Given the description of an element on the screen output the (x, y) to click on. 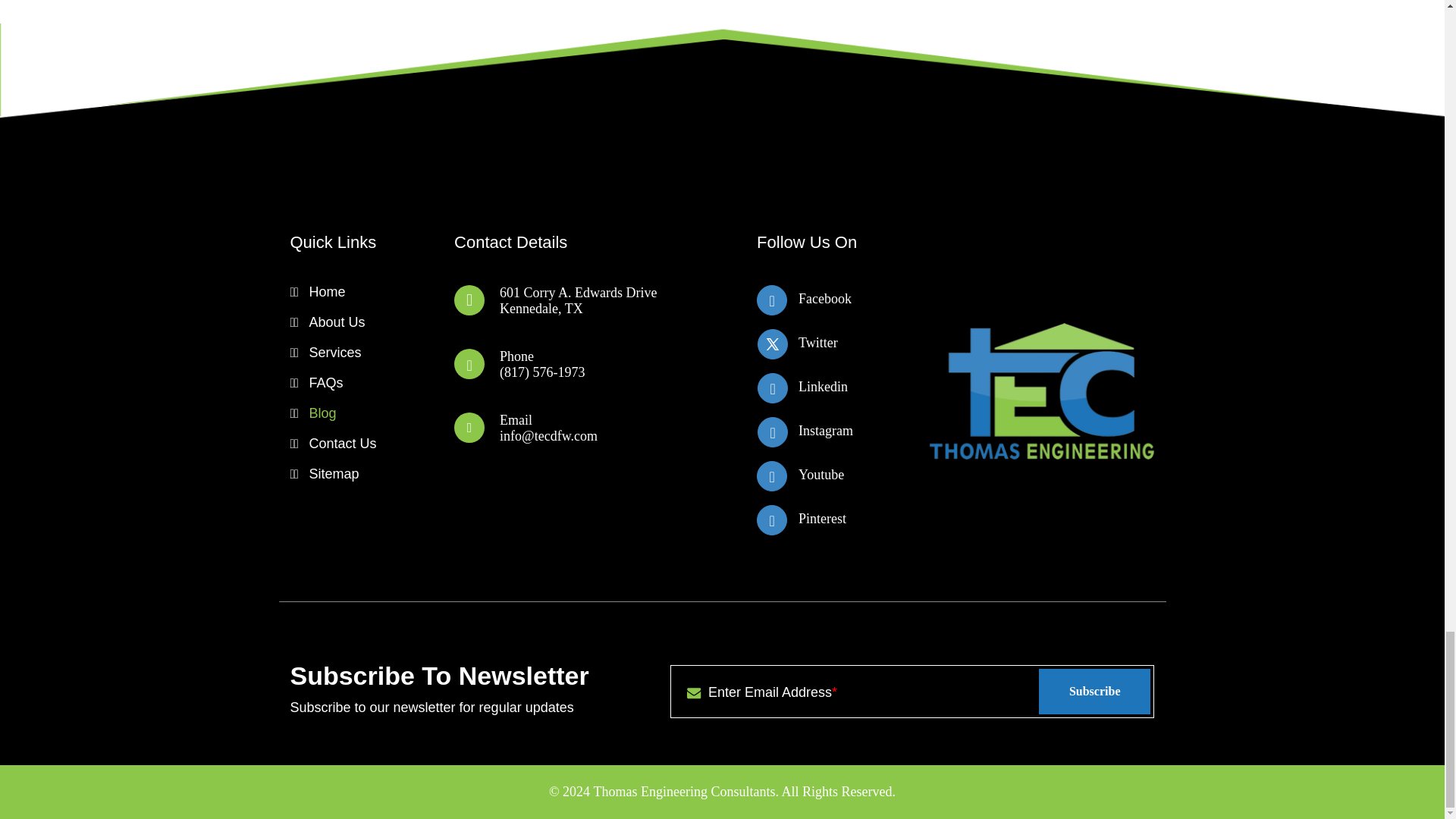
Subscribe (1095, 691)
